Given the description of an element on the screen output the (x, y) to click on. 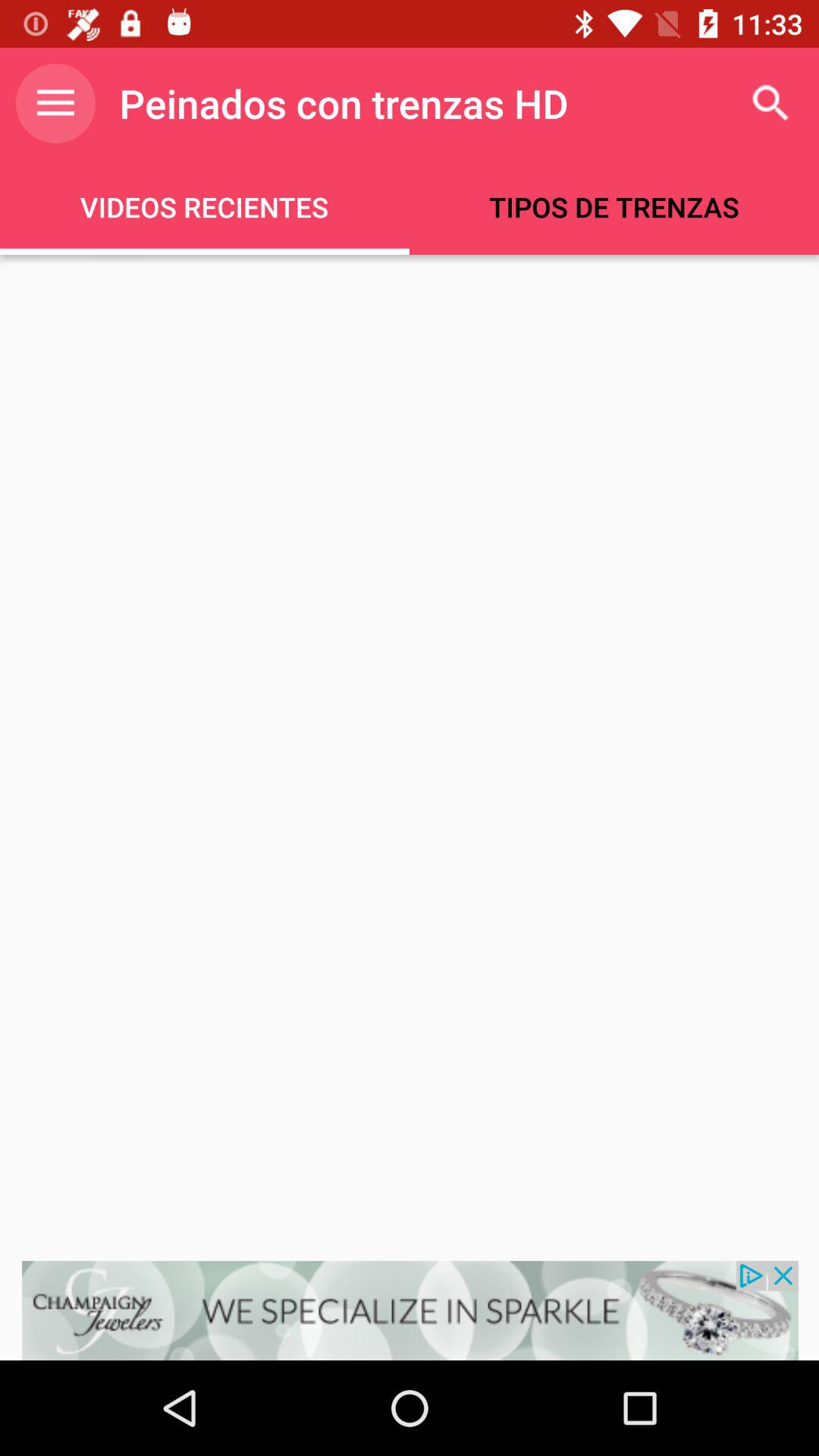
advertisement link (409, 1310)
